Given the description of an element on the screen output the (x, y) to click on. 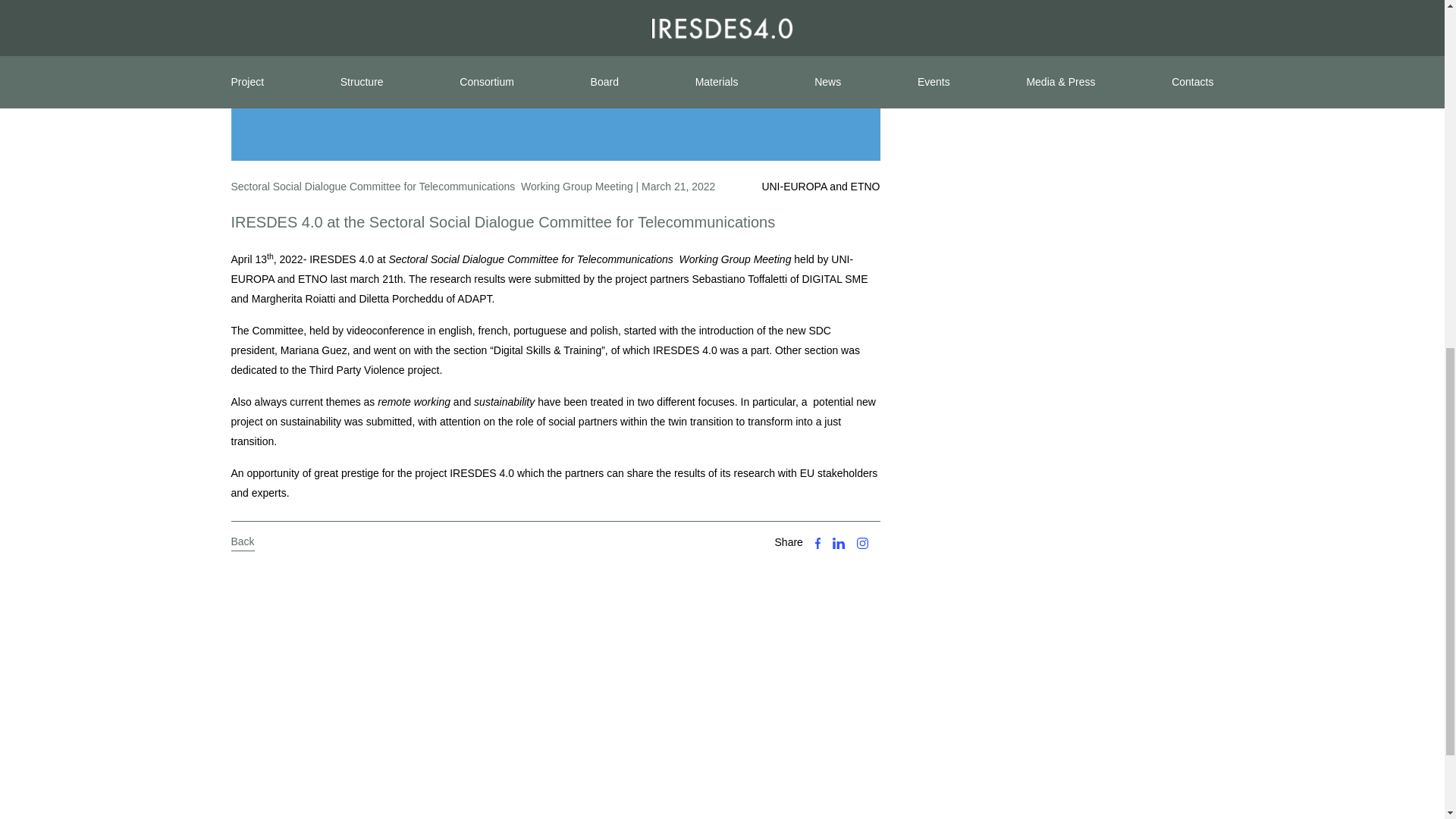
Back (241, 542)
